Given the description of an element on the screen output the (x, y) to click on. 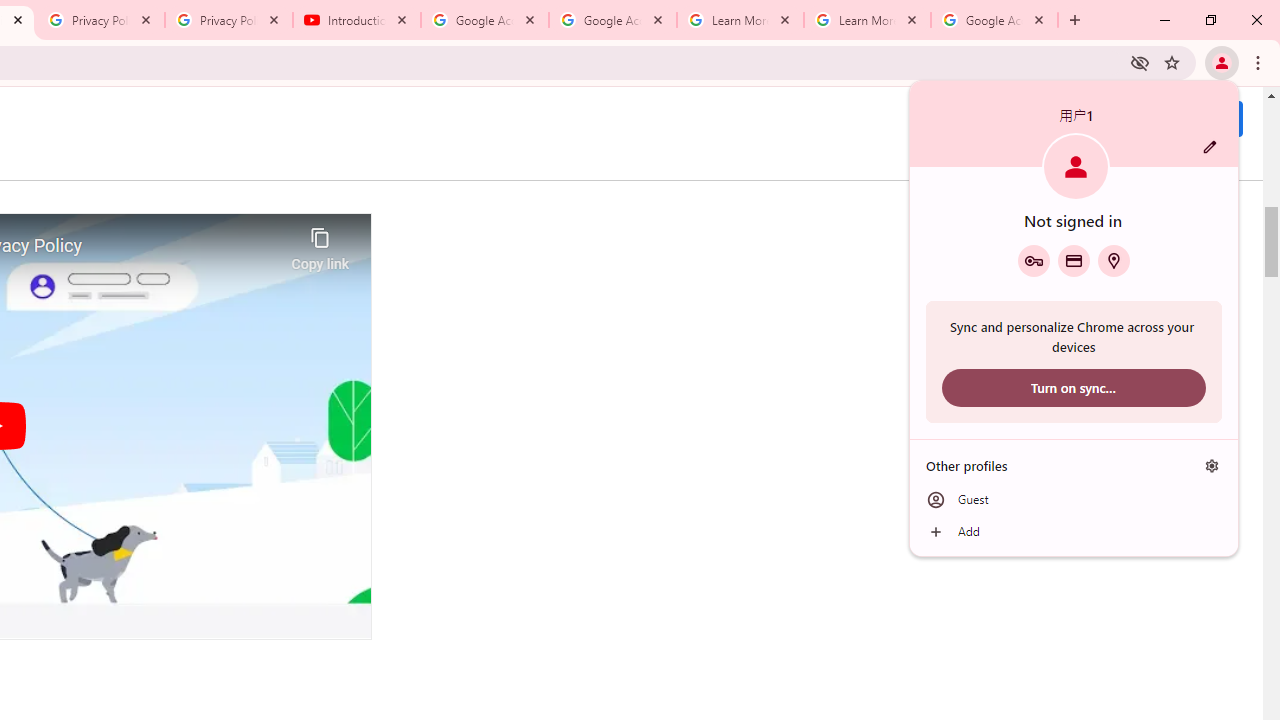
Guest (1073, 499)
Addresses and more (1114, 260)
Manage profiles (1211, 465)
Customize profile (1210, 147)
Introduction | Google Privacy Policy - YouTube (357, 20)
Google Account (994, 20)
Payment methods (1074, 260)
